Given the description of an element on the screen output the (x, y) to click on. 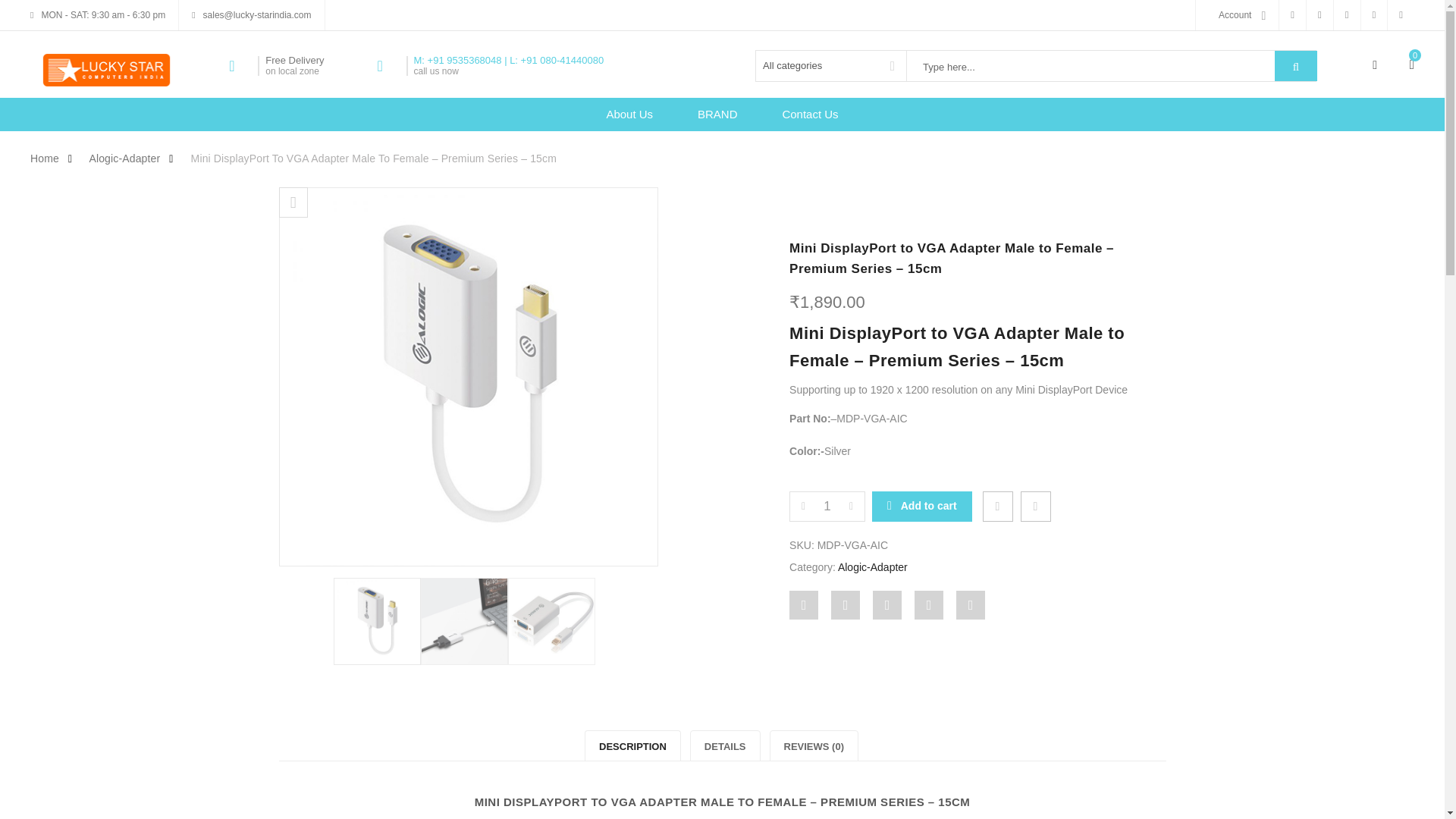
1 (826, 506)
MDP-VGA-AIC-2 (551, 621)
Qty (826, 506)
MDP-VGA-AIC (376, 621)
About Us (628, 114)
MDP-VGA-AIC-1 (464, 621)
Account (1236, 15)
All categories (831, 65)
BRAND (717, 114)
